Given the description of an element on the screen output the (x, y) to click on. 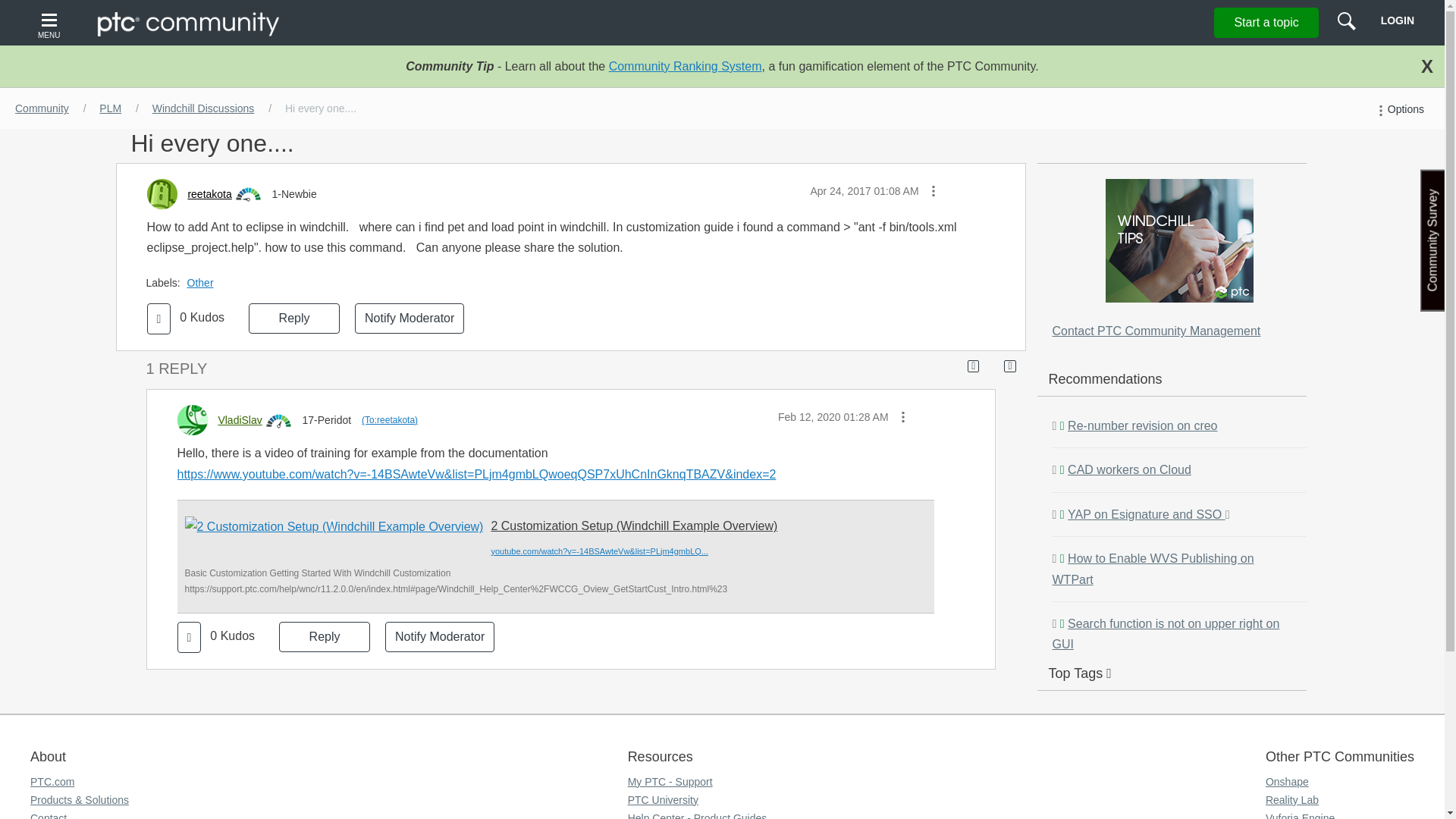
Windchill Discussions (203, 108)
Options (1398, 109)
Community Ranking System (684, 65)
PLM (110, 108)
MENU (50, 22)
Start a topic (1265, 22)
LOGIN (1396, 20)
Community (42, 108)
